Given the description of an element on the screen output the (x, y) to click on. 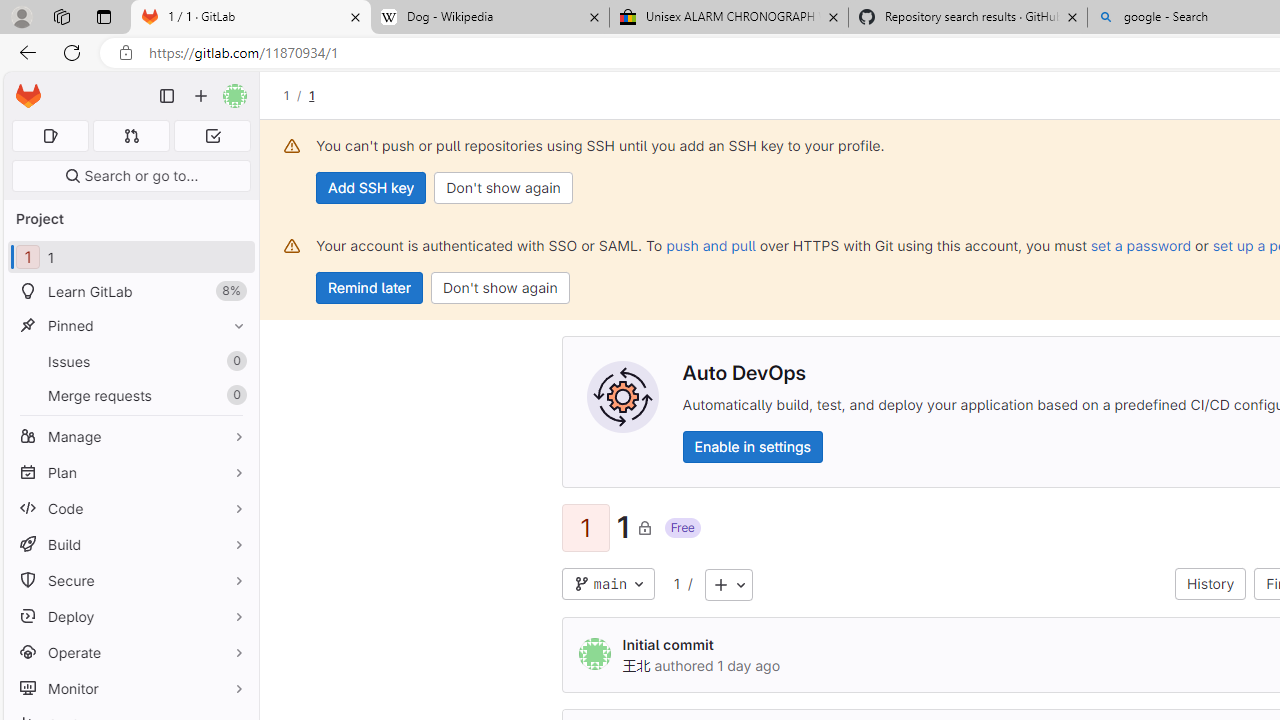
Plan (130, 471)
1/ (296, 95)
Add SSH key (371, 187)
push and pull (710, 245)
main (607, 583)
Secure (130, 579)
To-Do list 0 (212, 136)
Issues0 (130, 361)
Merge requests0 (130, 394)
